Given the description of an element on the screen output the (x, y) to click on. 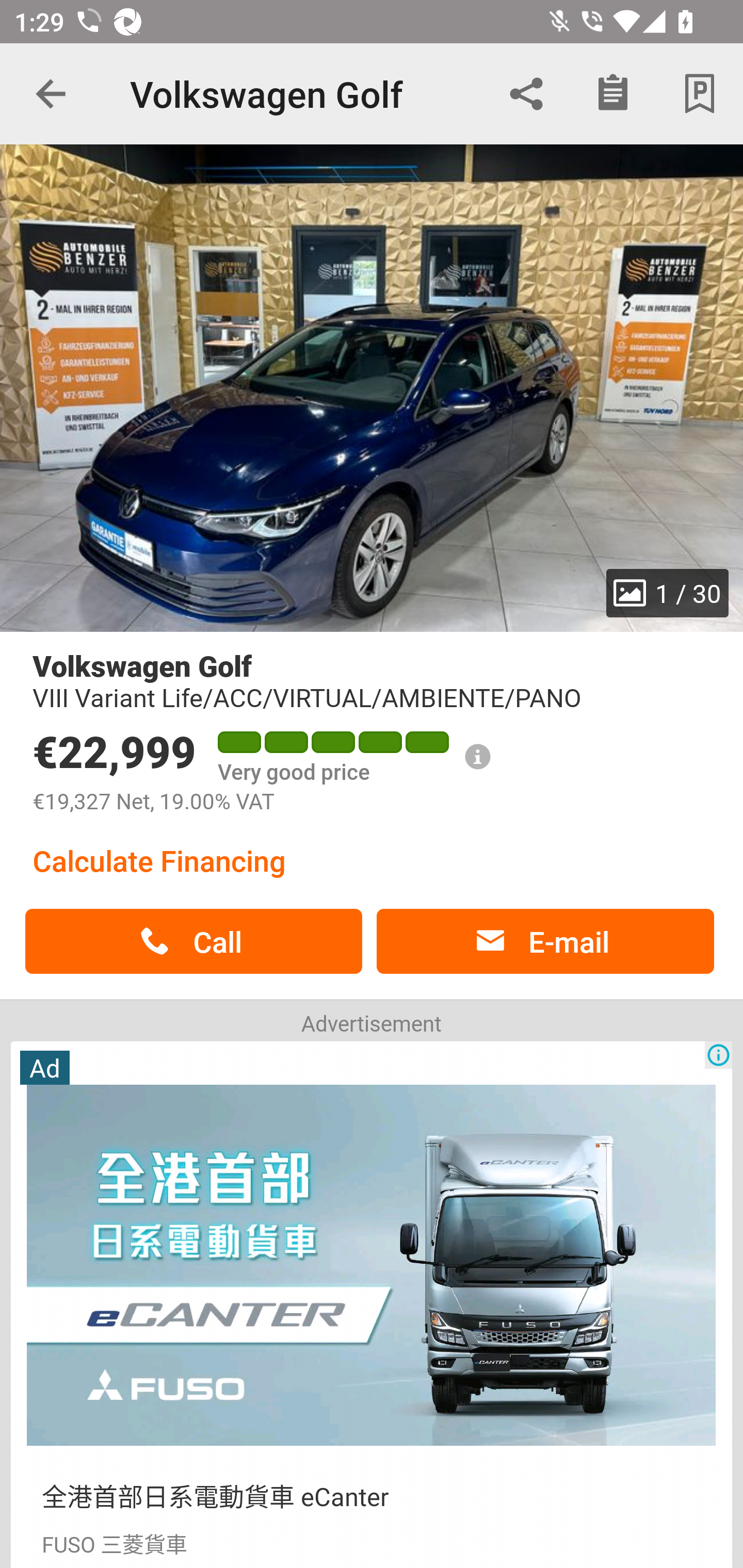
Navigate up (50, 93)
Share via (525, 93)
Checklist (612, 93)
Park (699, 93)
Calculate Financing (159, 859)
Call (193, 941)
E-mail (545, 941)
Ad 全港首部日系電動貨車 eCanter FUSO 三菱貨車 Ad Choices Icon (371, 1303)
Ad Choices Icon (718, 1055)
全港首部日系電動貨車 eCanter (215, 1495)
FUSO 三菱貨車 (114, 1542)
